Given the description of an element on the screen output the (x, y) to click on. 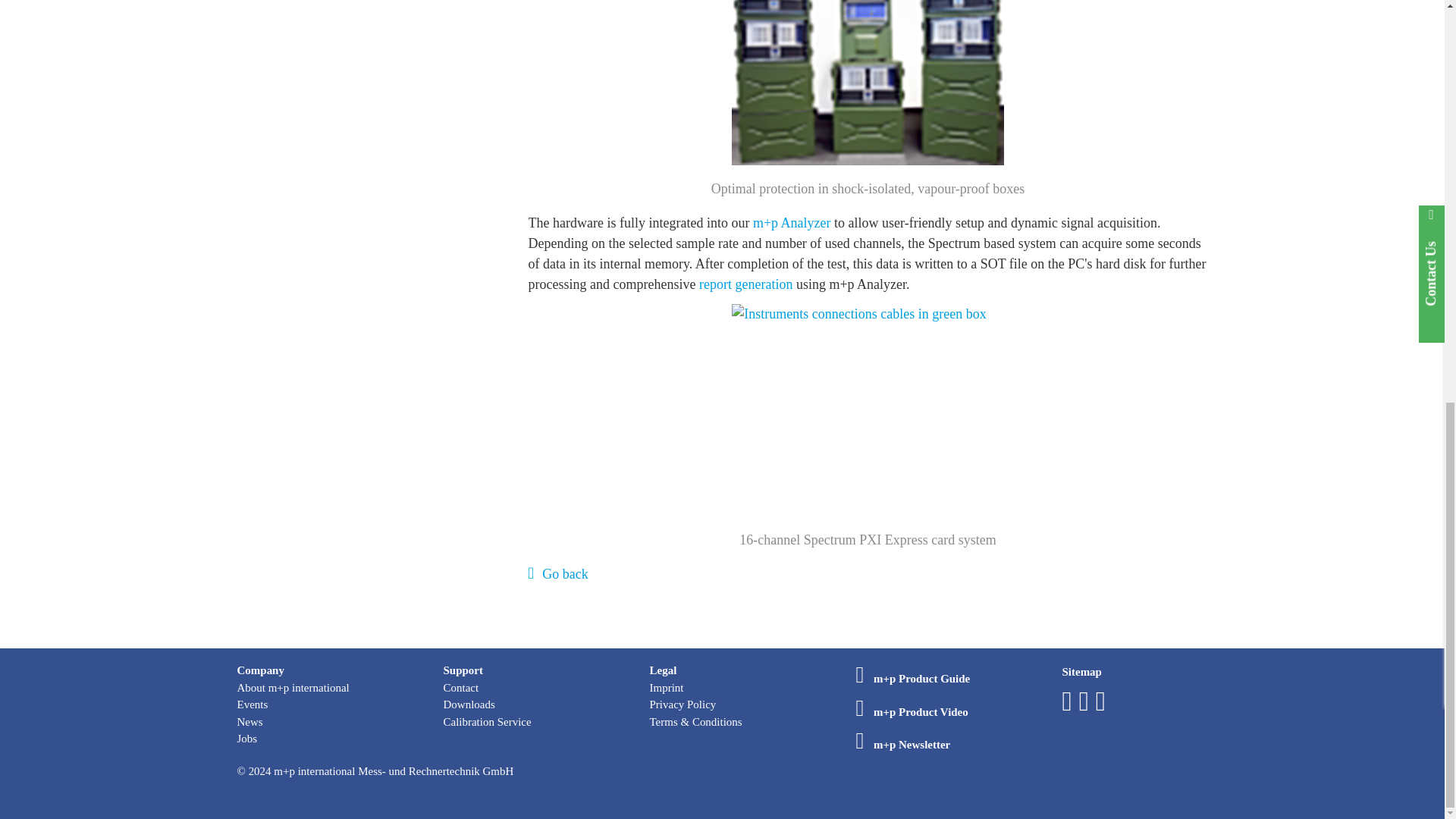
Protected in steel boxes by Zarges (867, 82)
Go back (557, 573)
